Given the description of an element on the screen output the (x, y) to click on. 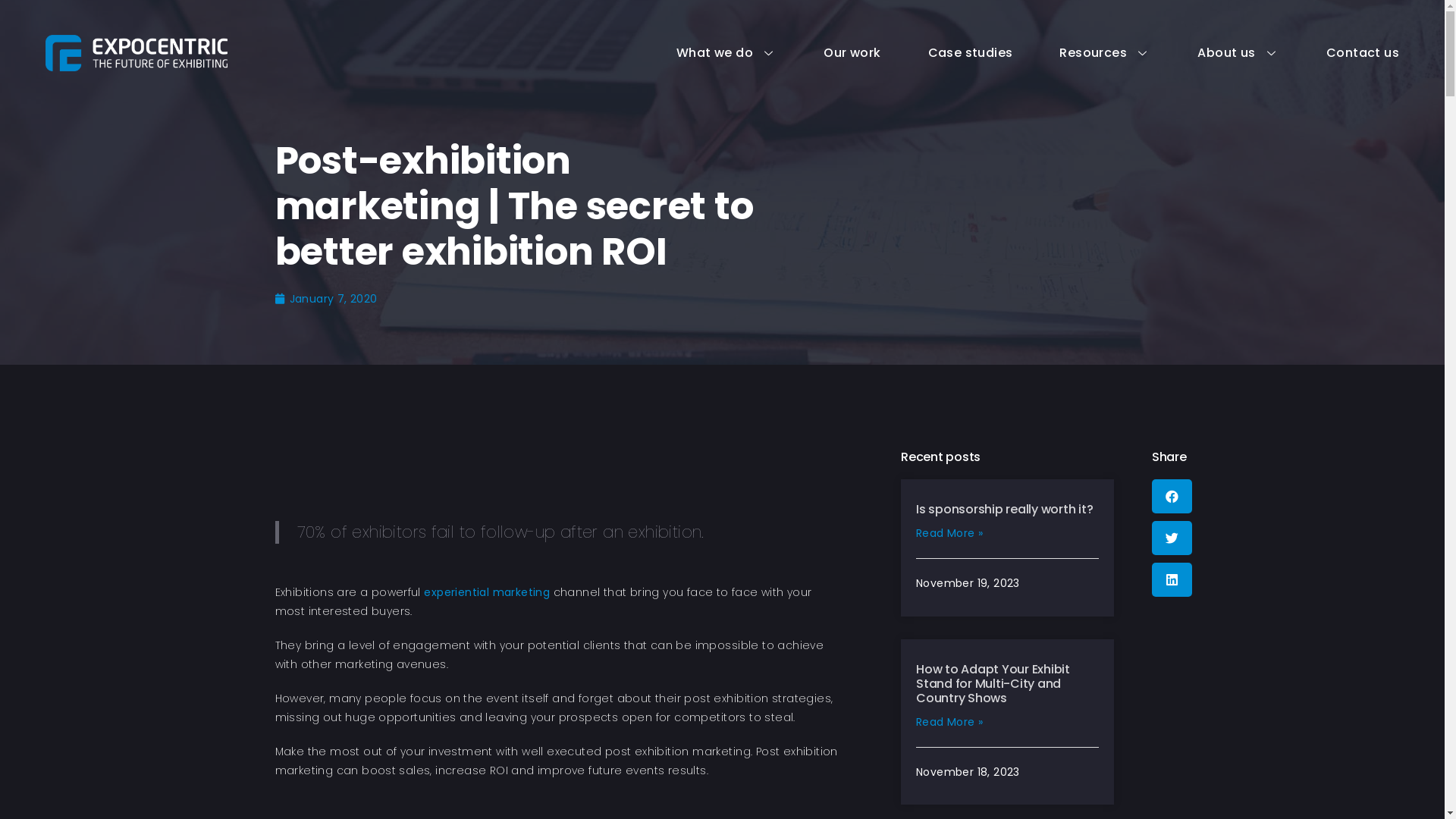
January 7, 2020 Element type: text (325, 298)
Resources Element type: text (1081, 52)
Our work Element type: text (828, 52)
About us Element type: text (1214, 52)
Case studies Element type: text (947, 52)
What we do Element type: text (702, 52)
Contact us Element type: text (1339, 52)
experiential marketing Element type: text (486, 591)
Is sponsorship really worth it? Element type: text (1004, 508)
